Given the description of an element on the screen output the (x, y) to click on. 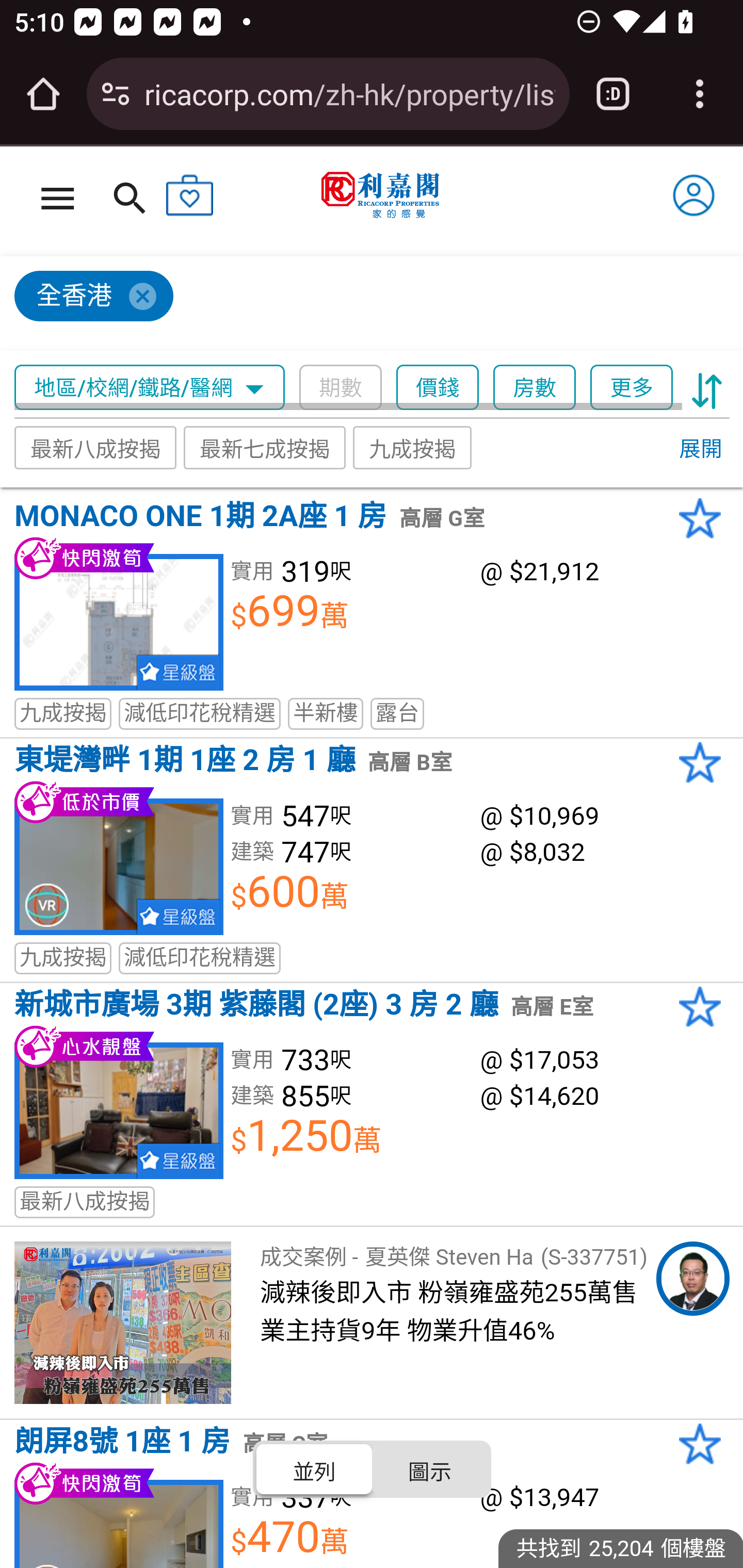
Open the home page (43, 93)
Connection is secure (115, 93)
Switch or close tabs (612, 93)
Customize and control Google Chrome (699, 93)
ricacorp.com/zh-hk/property/list/buy (349, 92)
全香港 (363, 304)
地區/校網/鐵路/醫網 (149, 387)
期數 (339, 387)
價錢 (437, 387)
房數 (535, 387)
更多 (630, 387)
sort (706, 387)
最新八成按揭 (96, 446)
最新七成按揭 (264, 446)
九成按揭 (412, 446)
並列 (314, 1468)
圖示 (429, 1468)
